Given the description of an element on the screen output the (x, y) to click on. 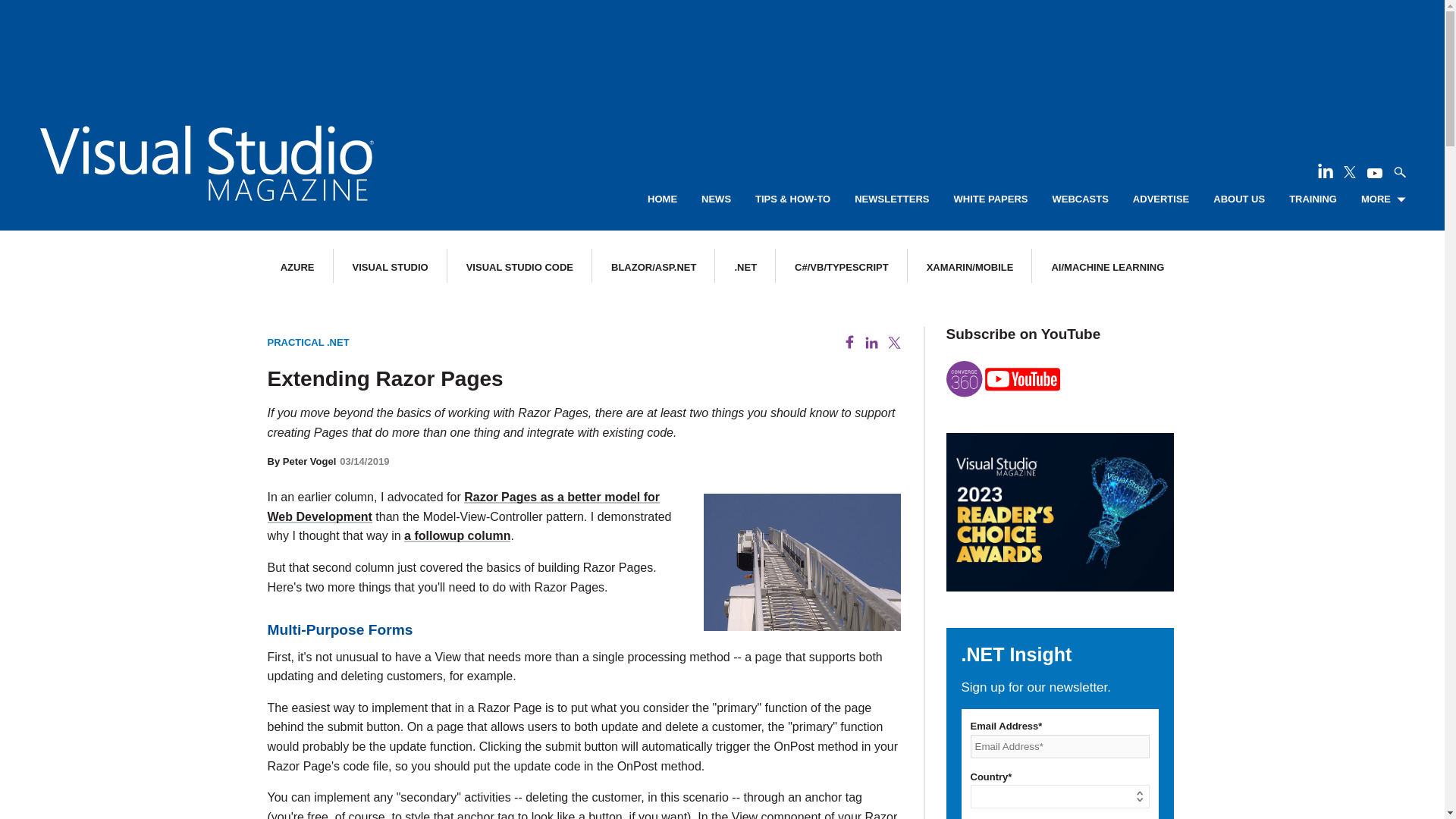
ABOUT US (1238, 199)
HOME (662, 199)
WHITE PAPERS (990, 199)
ADVERTISE (1160, 199)
VISUAL STUDIO CODE (519, 266)
.NET (745, 266)
VISUAL STUDIO (390, 266)
3rd party ad content (721, 45)
MORE (1383, 199)
AZURE (297, 266)
